Given the description of an element on the screen output the (x, y) to click on. 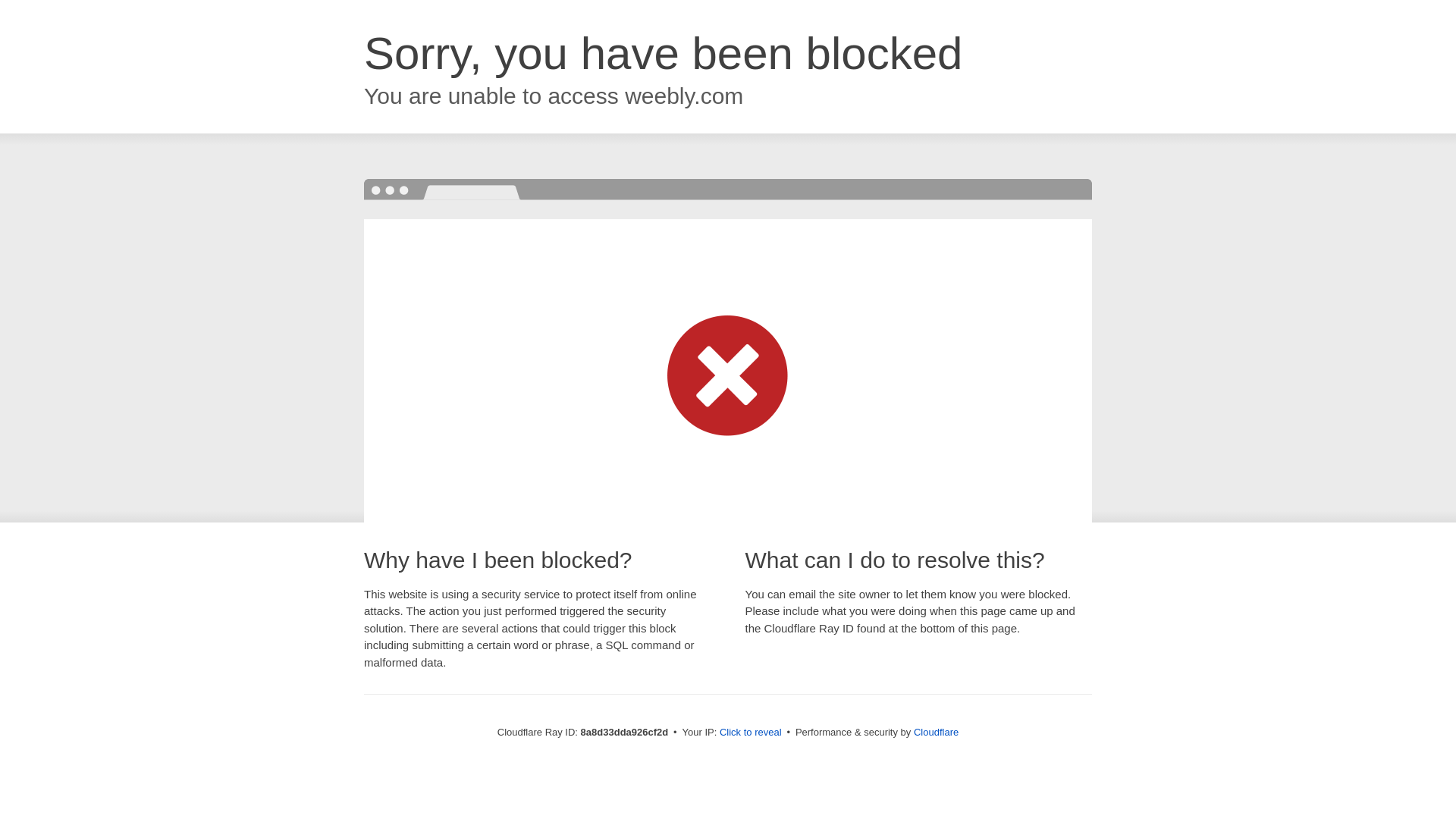
Click to reveal (750, 732)
Cloudflare (936, 731)
